Given the description of an element on the screen output the (x, y) to click on. 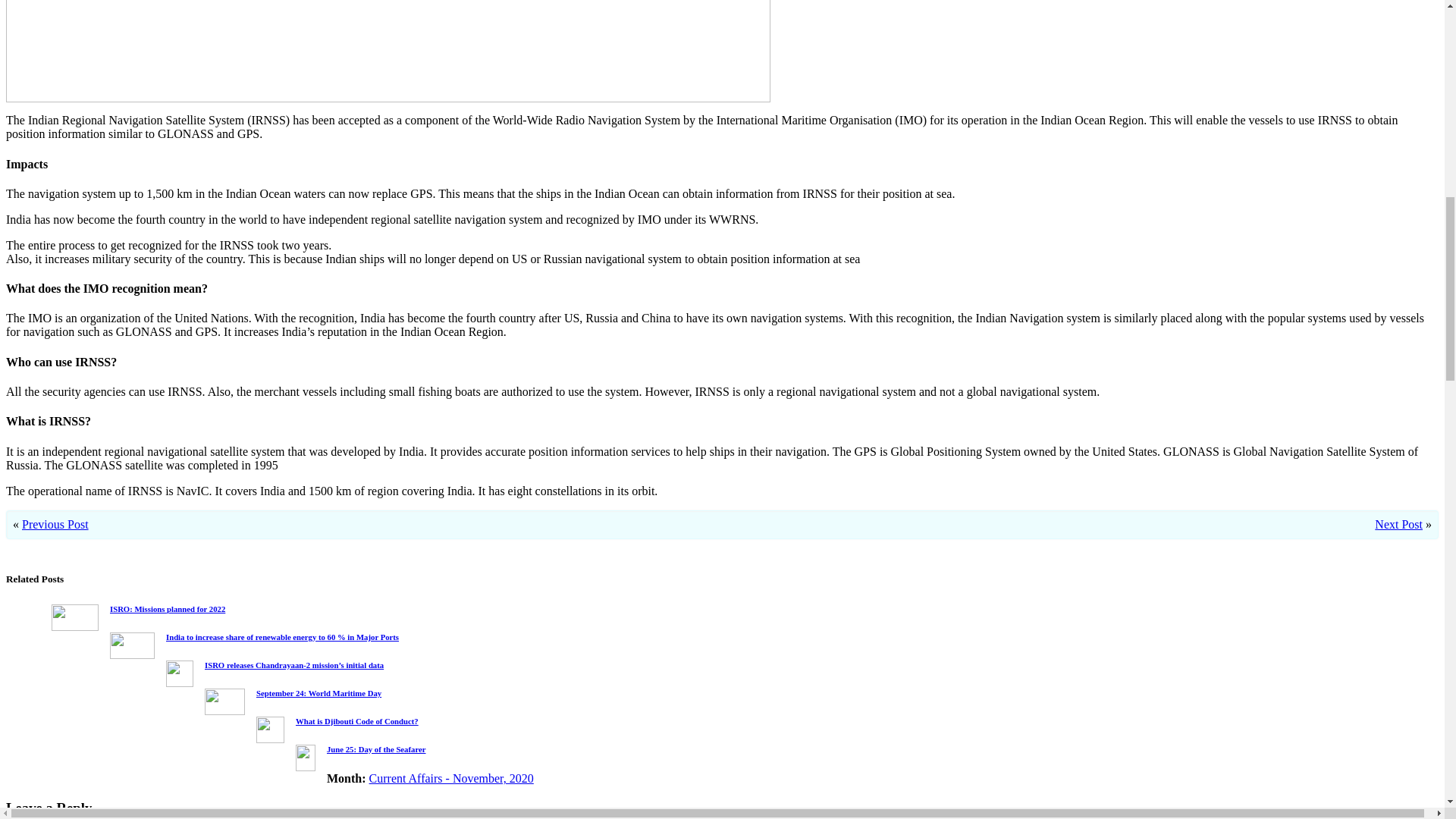
ISRO: Missions planned for 2022 (167, 608)
ISRO: Missions planned for 2022 (167, 608)
What is Djibouti Code of Conduct? (357, 720)
Next Post (1398, 523)
September 24: World Maritime Day (318, 692)
June 25: Day of the Seafarer (376, 748)
September 24: World Maritime Day (318, 692)
What is Djibouti Code of Conduct? (357, 720)
Previous Post (54, 523)
June 25: Day of the Seafarer (376, 748)
Current Affairs - November, 2020 (451, 778)
